Given the description of an element on the screen output the (x, y) to click on. 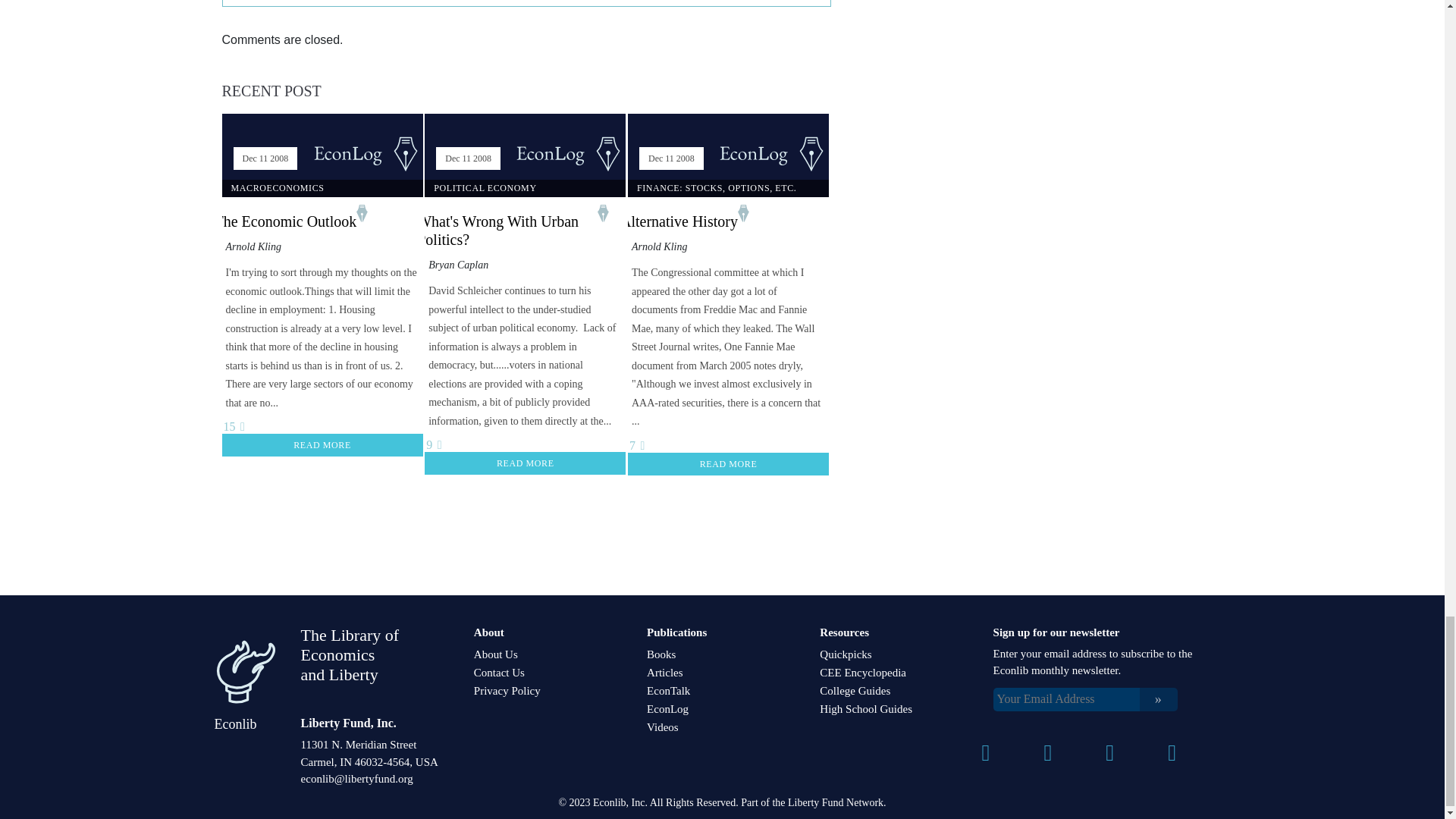
Arnold Kling (253, 246)
Arnold Kling (659, 246)
Bryan Caplan (457, 265)
